Given the description of an element on the screen output the (x, y) to click on. 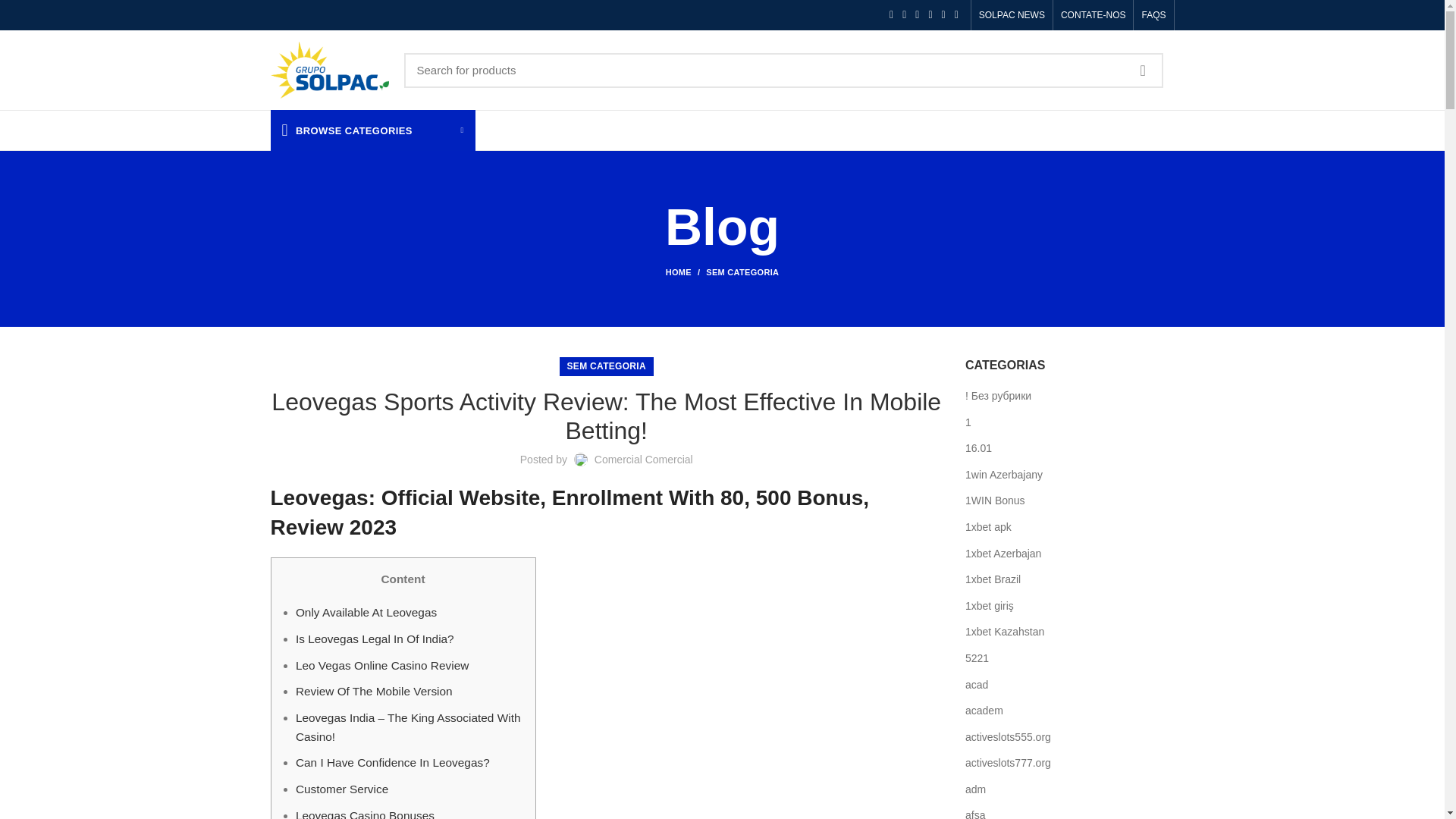
Review Of The Mobile Version (373, 690)
SEM CATEGORIA (606, 366)
Customer Service (341, 788)
SEM CATEGORIA (742, 271)
Can I Have Confidence In Leovegas? (392, 762)
HOME (685, 272)
FAQS (1153, 15)
CONTATE-NOS (1093, 15)
SOLPAC NEWS (1011, 15)
Leo Vegas Online Casino Review (381, 665)
Leovegas Casino Bonuses (364, 813)
Search for products (782, 70)
SEARCH (1142, 70)
Only Available At Leovegas (365, 612)
Is Leovegas Legal In Of India? (374, 638)
